Given the description of an element on the screen output the (x, y) to click on. 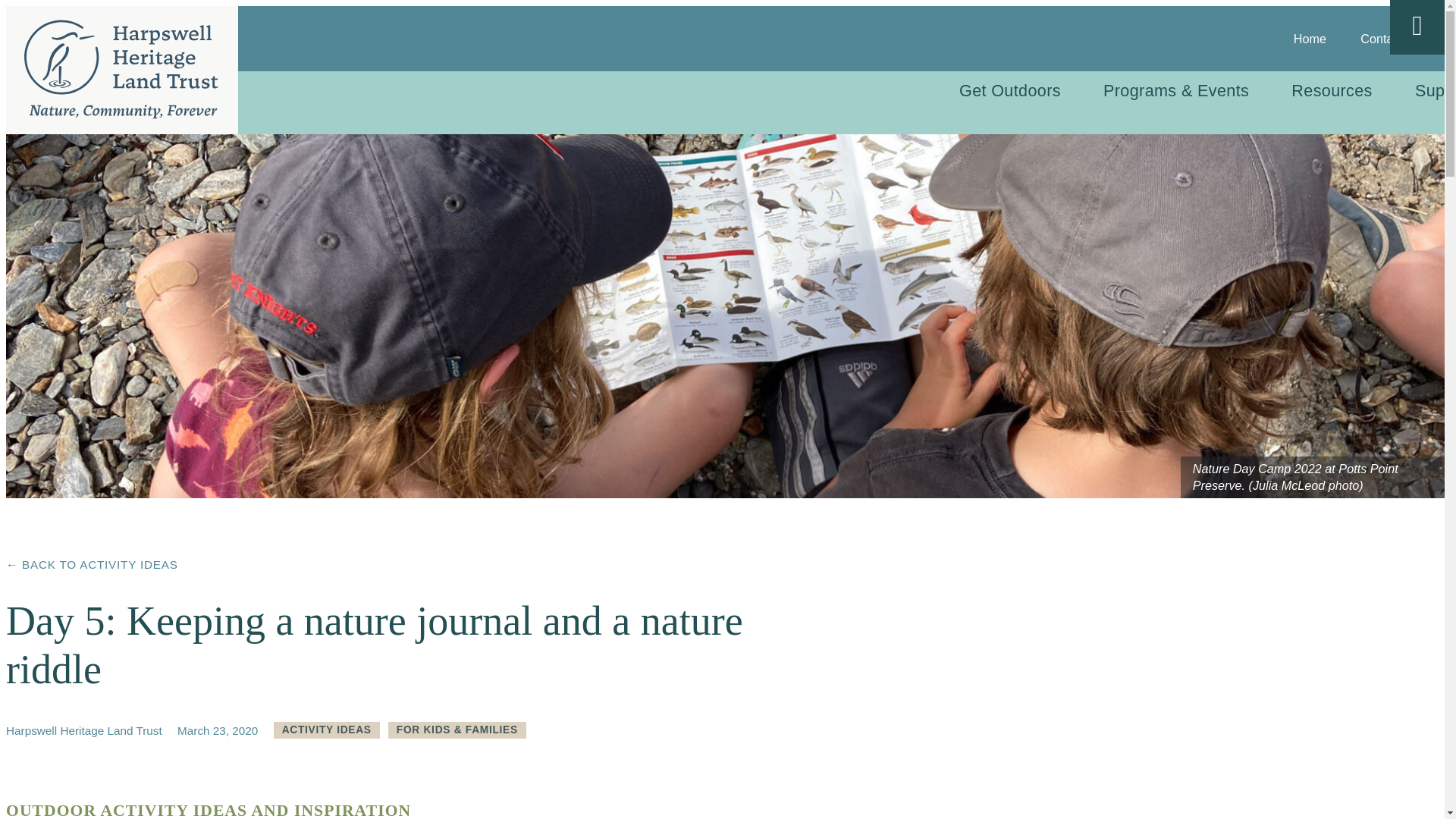
Shop (1446, 38)
Contact (1381, 38)
Home (1310, 38)
Get Outdoors (1009, 89)
Resources (1332, 89)
ACTIVITY IDEAS (326, 729)
